Given the description of an element on the screen output the (x, y) to click on. 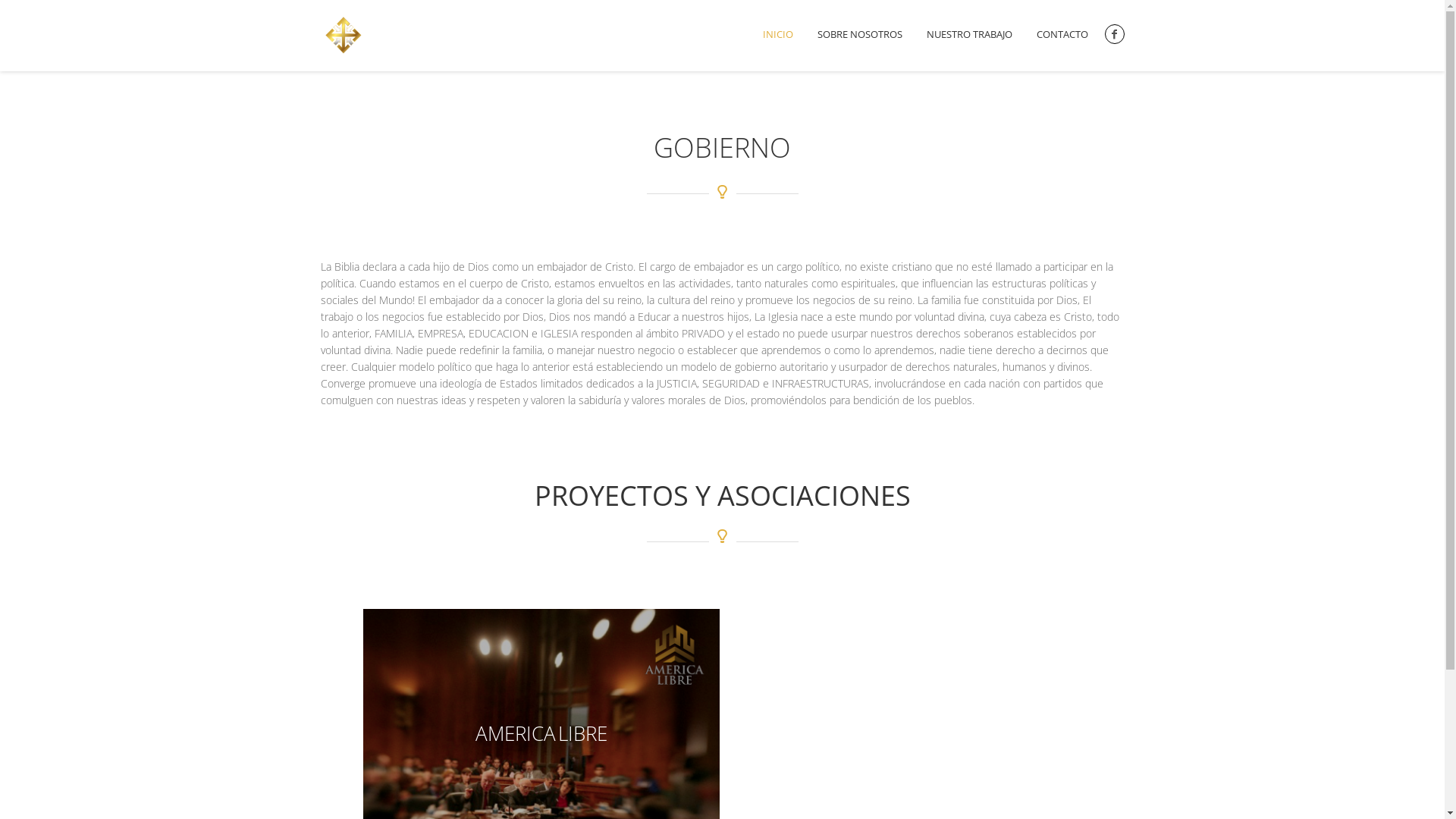
INICIO Element type: text (777, 35)
Follow us on Facebook Element type: hover (1113, 33)
NUESTRO TRABAJO Element type: text (969, 35)
CONTACTO Element type: text (1061, 35)
SOBRE NOSOTROS Element type: text (859, 35)
